Given the description of an element on the screen output the (x, y) to click on. 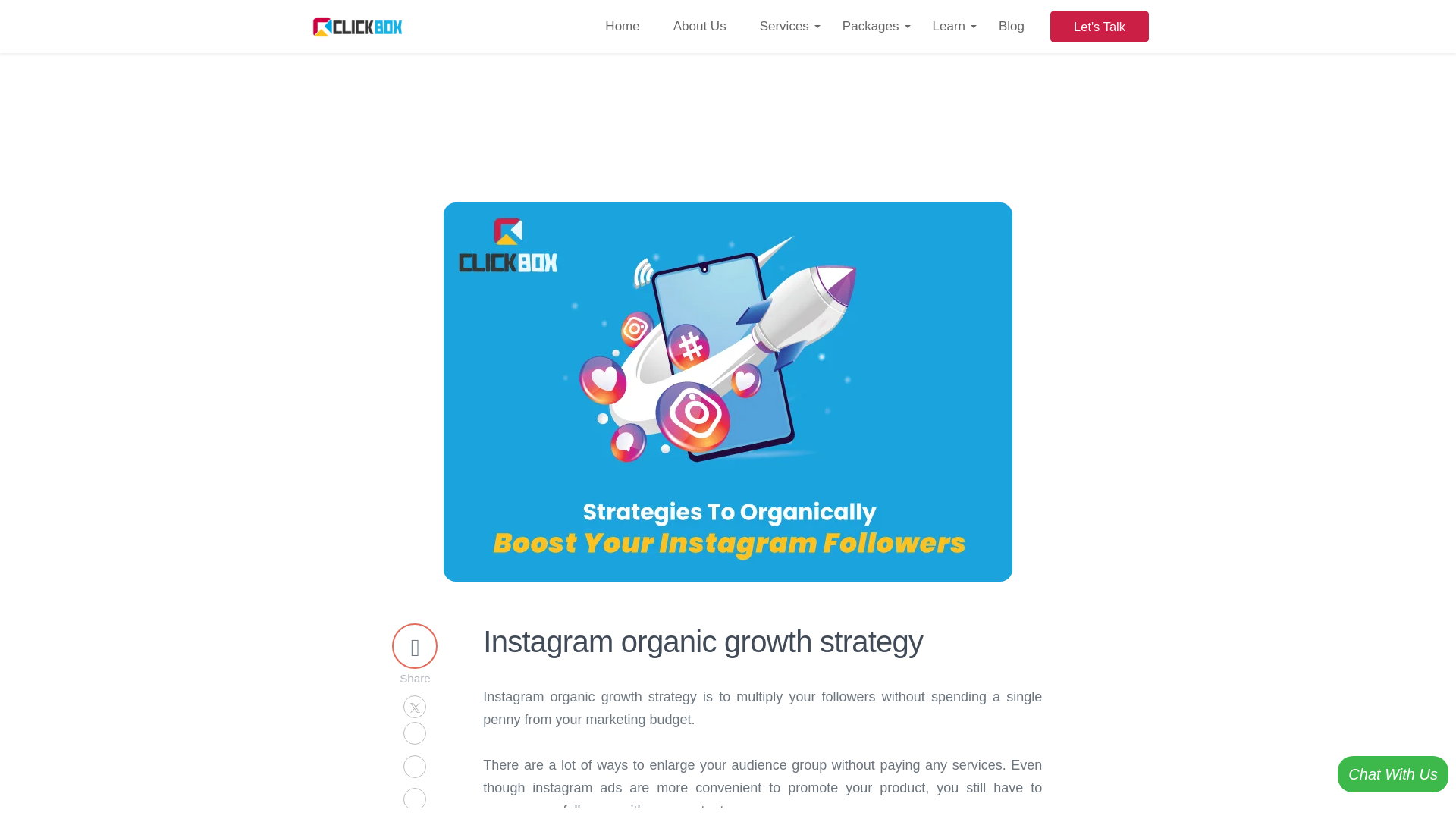
Services (784, 26)
About Us (700, 26)
Home (622, 26)
